Given the description of an element on the screen output the (x, y) to click on. 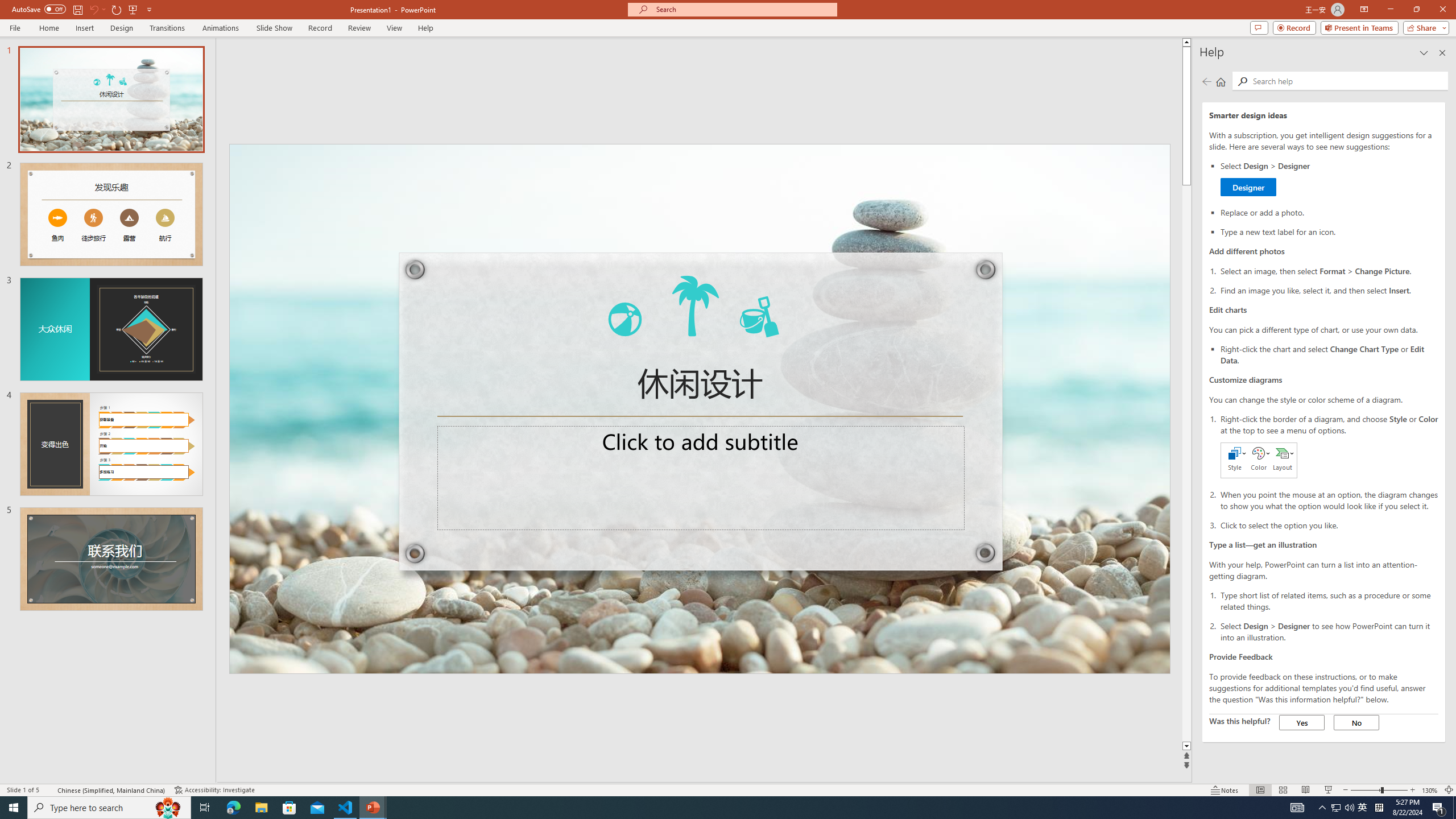
Replace or add a photo. (1329, 211)
No (1355, 722)
